Given the description of an element on the screen output the (x, y) to click on. 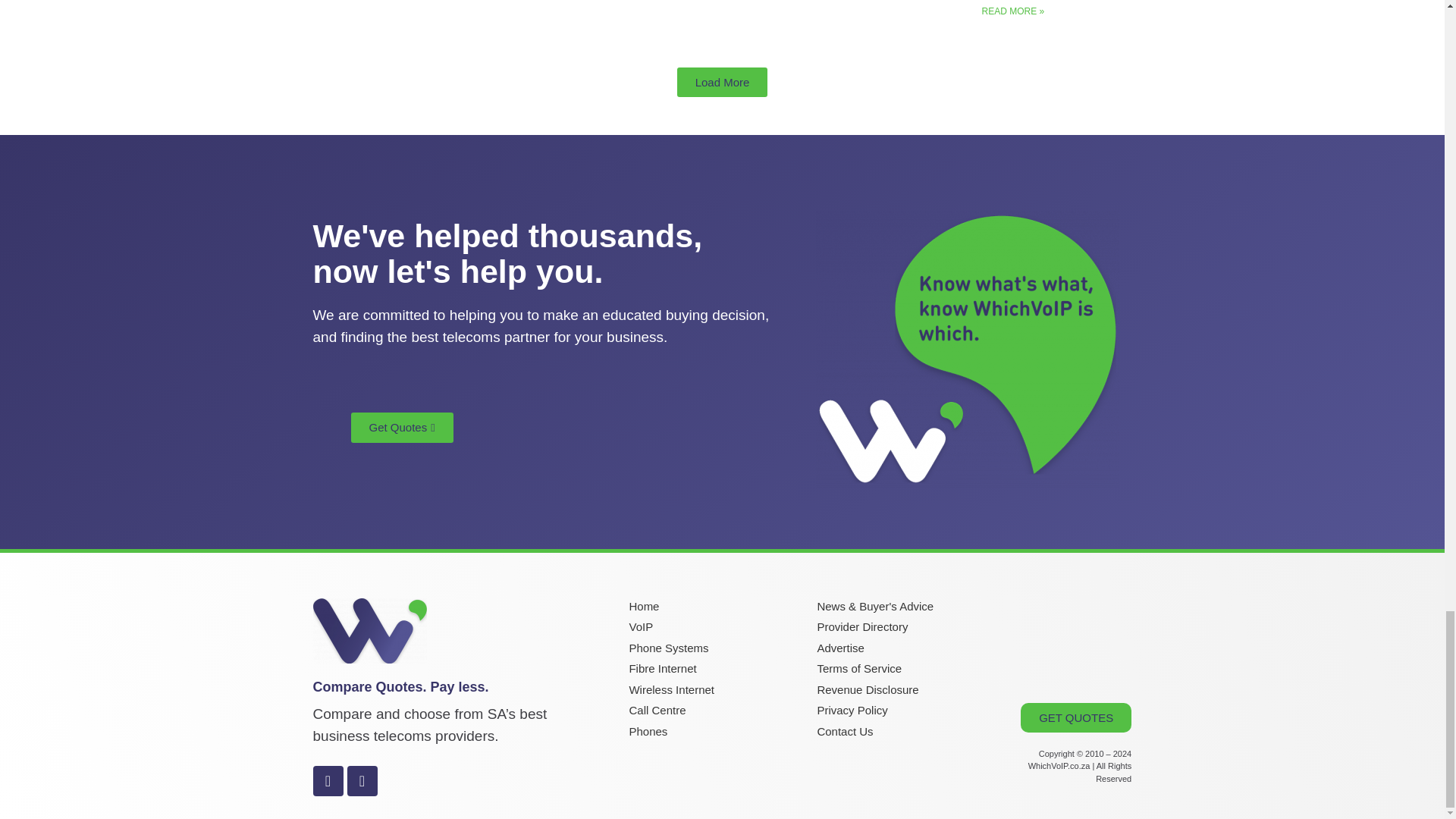
WhichVoIP Logo-16 (369, 630)
sw (967, 349)
